Given the description of an element on the screen output the (x, y) to click on. 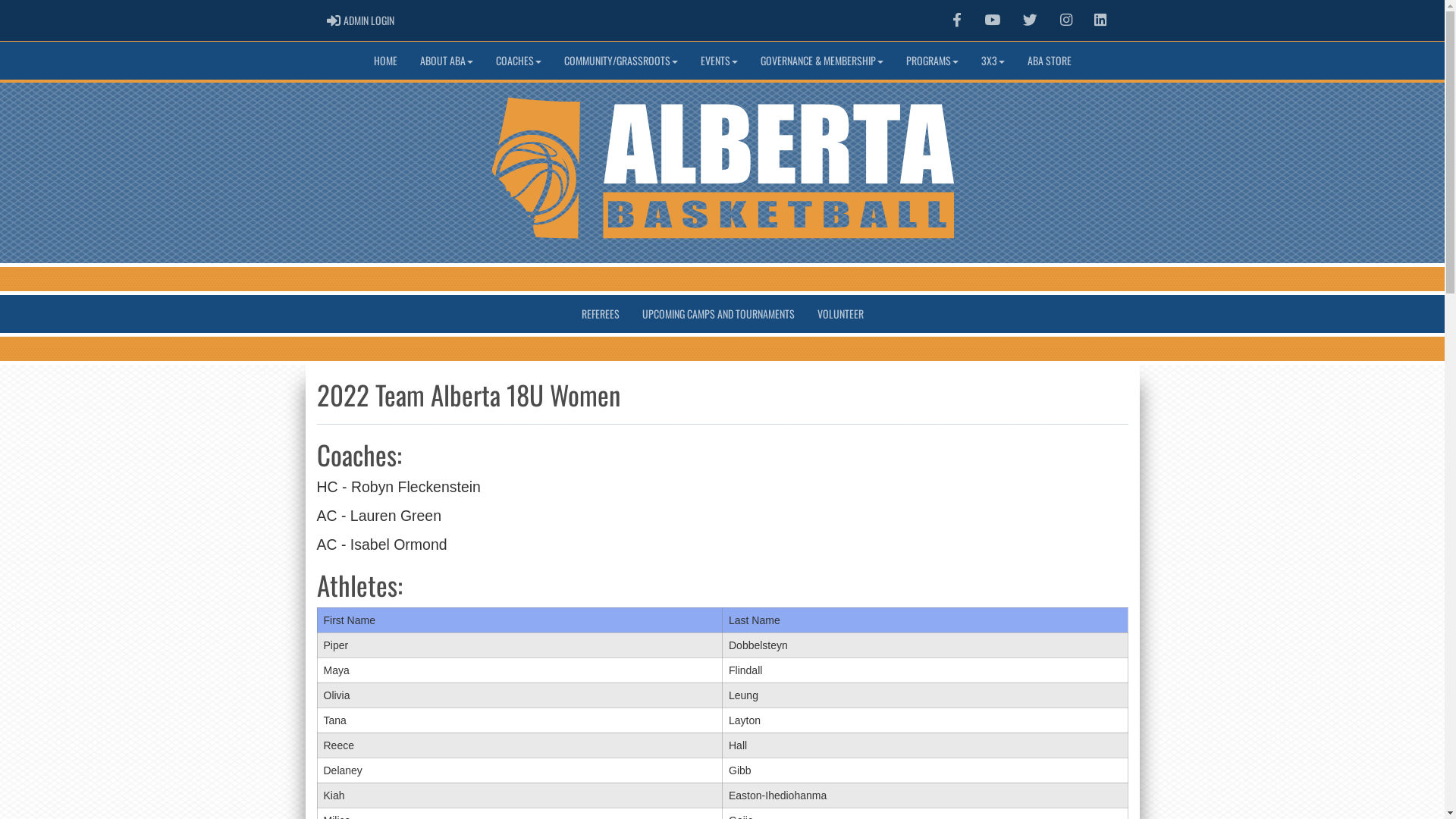
GOVERNANCE & MEMBERSHIP Element type: text (821, 60)
Youtube Element type: text (992, 20)
HOME Element type: text (385, 60)
LOGIN PAGE
 ADMIN LOGIN
ADMIN LOGIN Element type: text (360, 20)
PROGRAMS Element type: text (931, 60)
3X3 Element type: text (992, 60)
Twitter Element type: text (1030, 20)
Facebook Element type: text (956, 20)
COMMUNITY/GRASSROOTS Element type: text (620, 60)
like us Element type: hover (956, 19)
EVENTS Element type: text (718, 60)
ABA STORE Element type: text (1049, 60)
REFEREES Element type: text (600, 313)
VOLUNTEER Element type: text (839, 313)
follow us Element type: hover (1029, 19)
COACHES Element type: text (517, 60)
watch Element type: hover (992, 19)
instagram Element type: hover (1066, 19)
linkedin Element type: hover (1100, 19)
Instagram Element type: text (1066, 20)
Login Page Element type: hover (333, 20)
UPCOMING CAMPS AND TOURNAMENTS Element type: text (718, 313)
ABOUT ABA Element type: text (445, 60)
LinkedIn Element type: text (1100, 20)
